Given the description of an element on the screen output the (x, y) to click on. 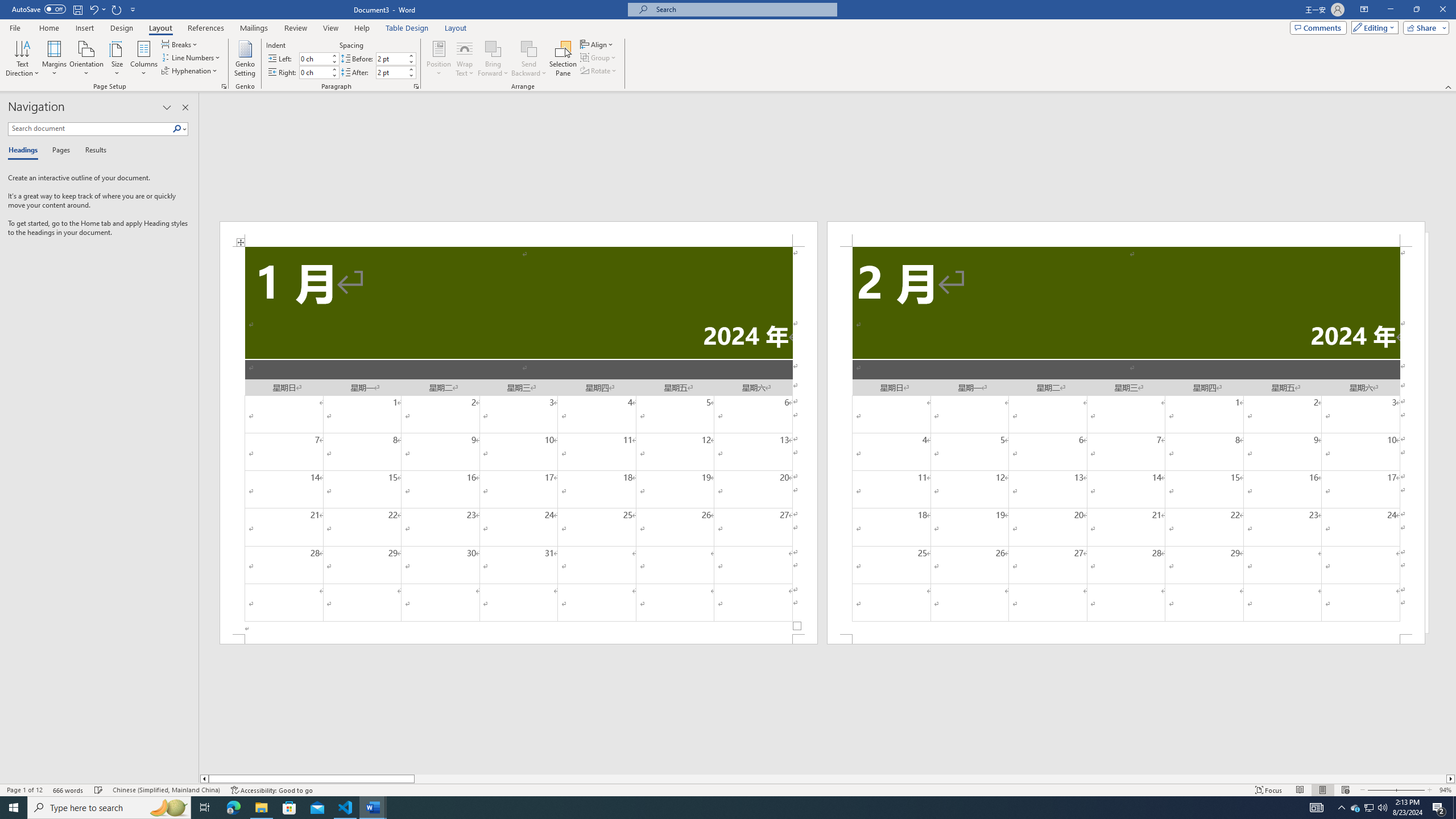
Bring Forward (492, 48)
Header -Section 2- (1126, 233)
Page 2 content (1126, 439)
Columns (143, 58)
